Given the description of an element on the screen output the (x, y) to click on. 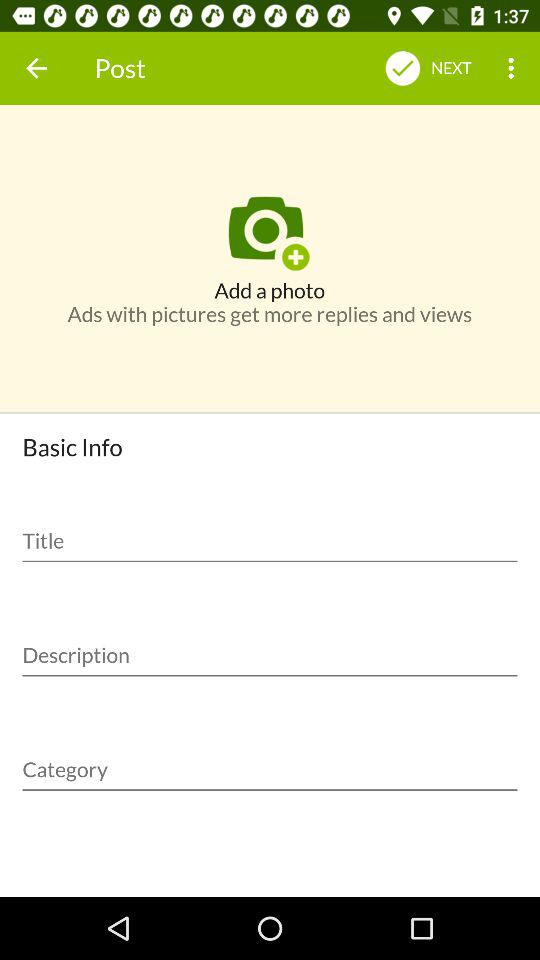
tap the item below basic info (269, 533)
